Given the description of an element on the screen output the (x, y) to click on. 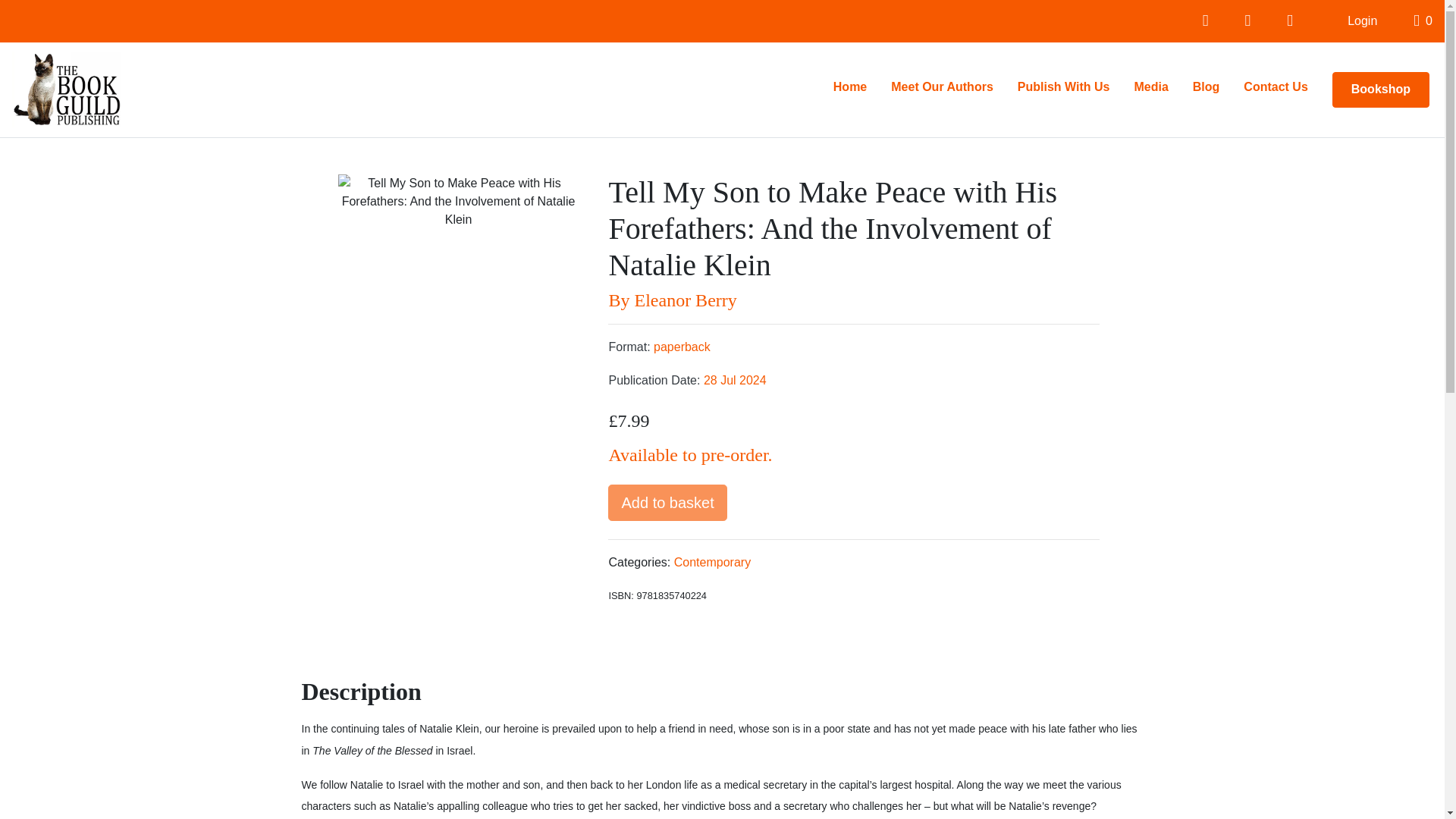
Login (1361, 20)
Publish With Us (1063, 87)
By Eleanor Berry (853, 300)
Add to basket (667, 502)
Blog (1205, 87)
Media (1149, 87)
Contact Us (1275, 87)
Meet Our Authors (941, 87)
Bookshop (1380, 89)
